Given the description of an element on the screen output the (x, y) to click on. 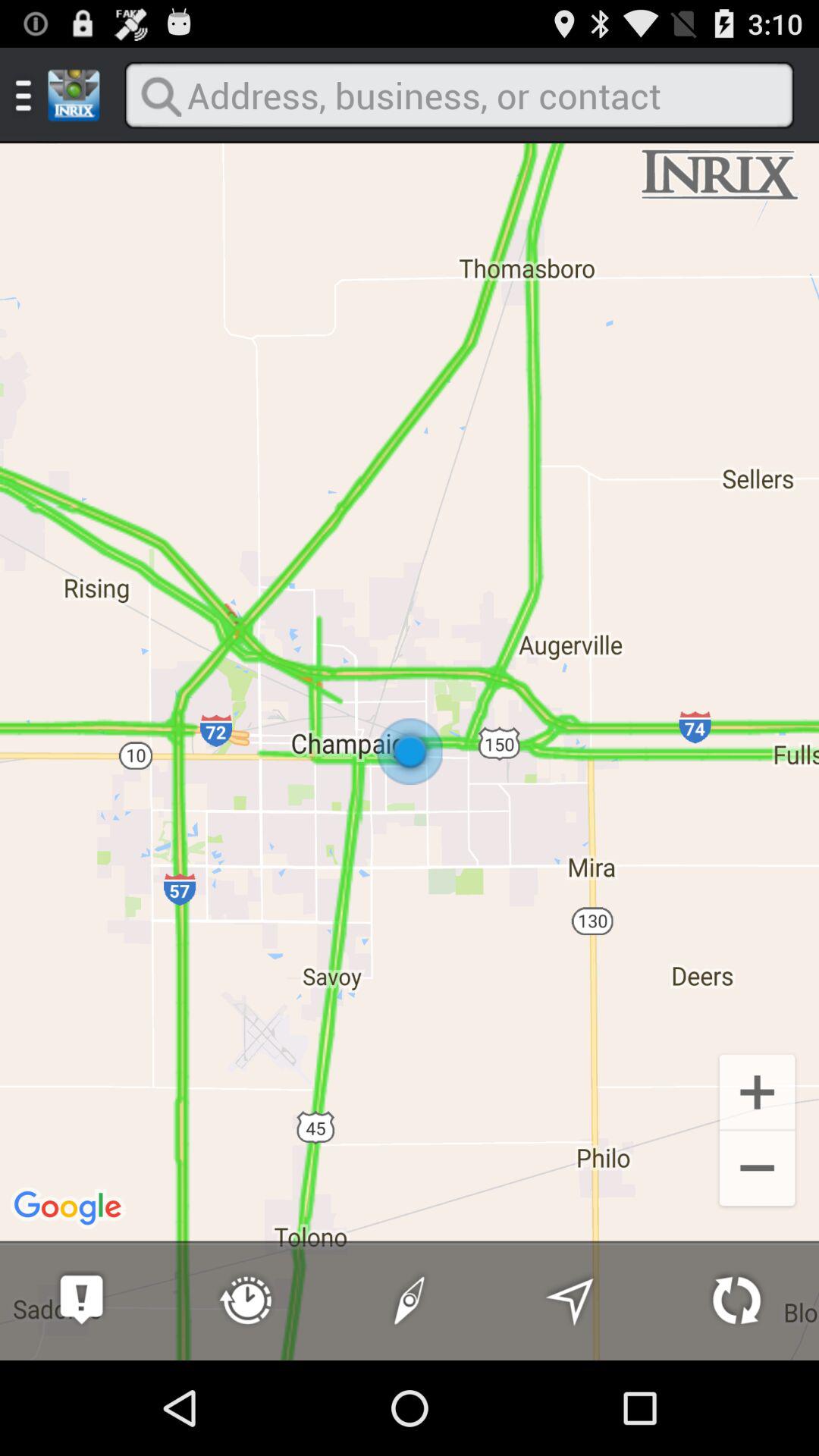
enter search term (459, 94)
